Given the description of an element on the screen output the (x, y) to click on. 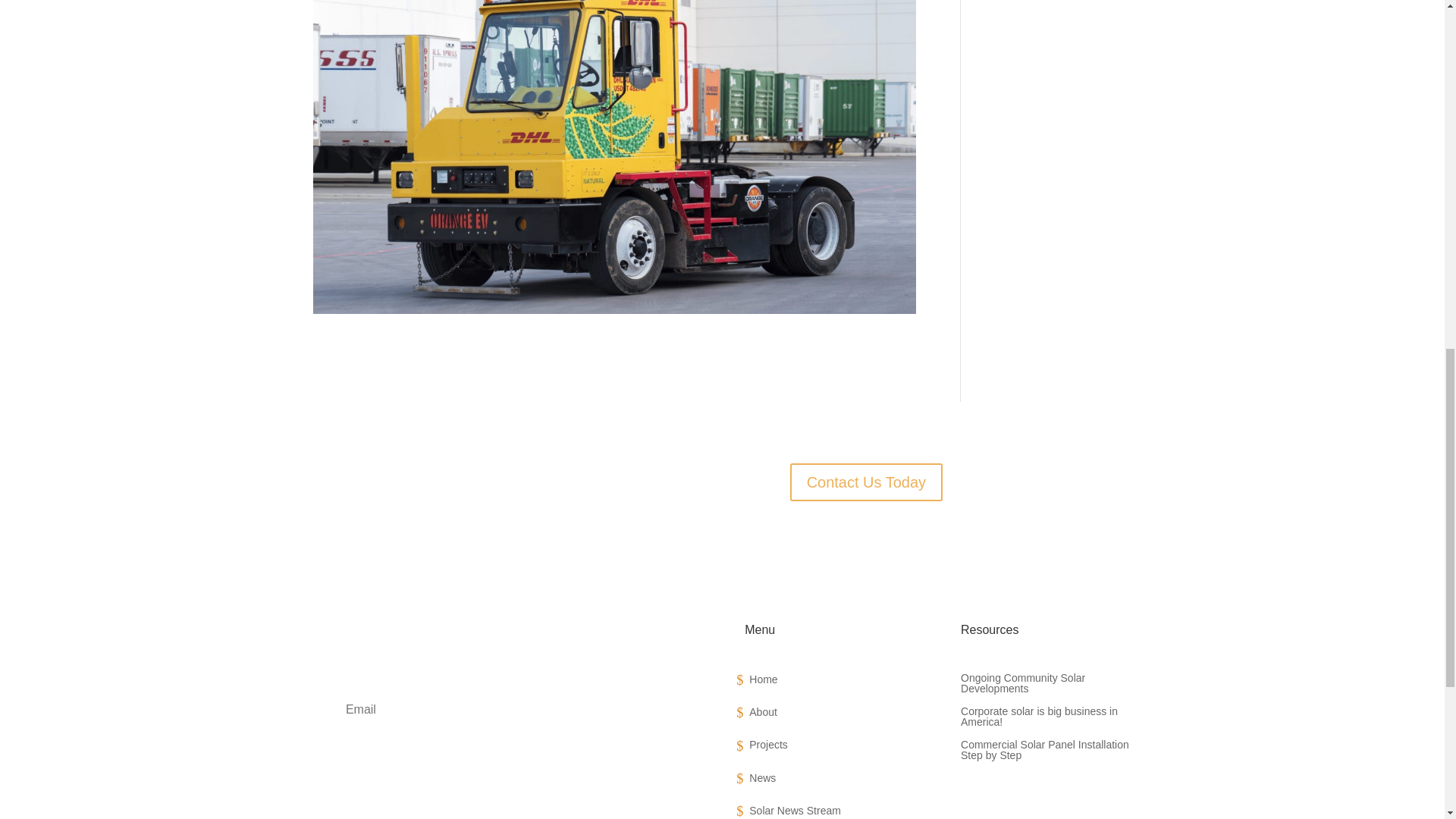
Contact Us Today (866, 482)
About (829, 714)
Corporate solar is big business in America! (1045, 719)
Commercial Solar Panel Installation Step by Step (1045, 752)
News (829, 781)
Subscribe (506, 756)
Ongoing Community Solar Developments (1045, 686)
Projects (829, 747)
Solar News Stream (829, 812)
Home (829, 682)
